Given the description of an element on the screen output the (x, y) to click on. 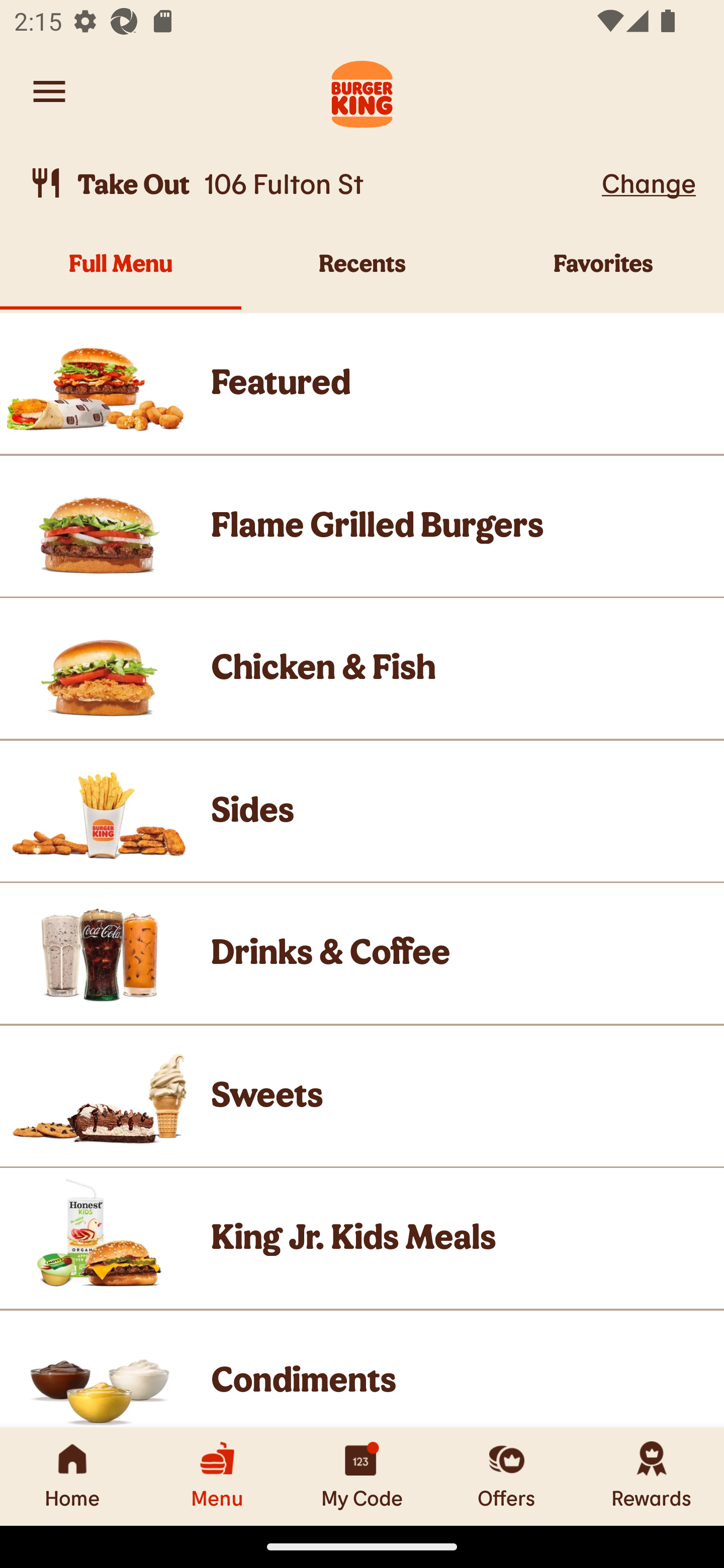
Burger King Logo. Navigate to Home (362, 91)
Navigate to account menu  (49, 91)
Take Out, 106 Fulton St  Take Out 106 Fulton St (311, 183)
Change (648, 182)
Full Menu (120, 273)
Recents (361, 273)
Favorites (603, 273)
Product Image, Featured Product Image Featured (362, 383)
Product Image, Sides Product Image Sides (362, 810)
Product Image, Sweets Product Image Sweets (362, 1095)
Product Image, Condiments Product Image Condiments (362, 1368)
Home (72, 1475)
Menu (216, 1475)
My Code (361, 1475)
Offers (506, 1475)
Rewards (651, 1475)
